Given the description of an element on the screen output the (x, y) to click on. 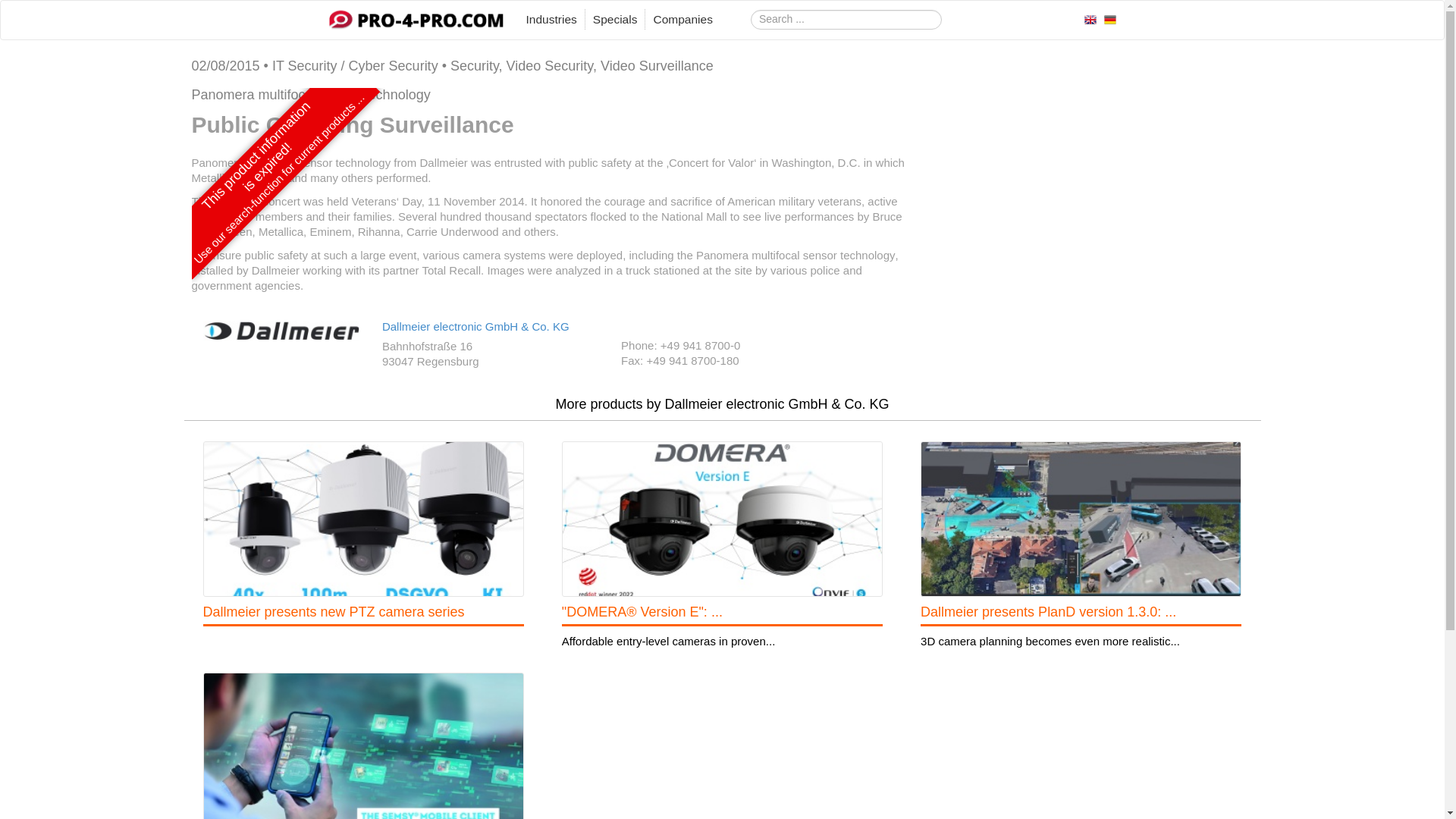
Industries (551, 19)
english version (1090, 18)
Dallmeier presents PlanD version 1.3.0: ... (1048, 611)
Specials (615, 19)
deutsche version (1109, 18)
Dallmeier presents new PTZ camera series (333, 611)
Companies (682, 19)
